Given the description of an element on the screen output the (x, y) to click on. 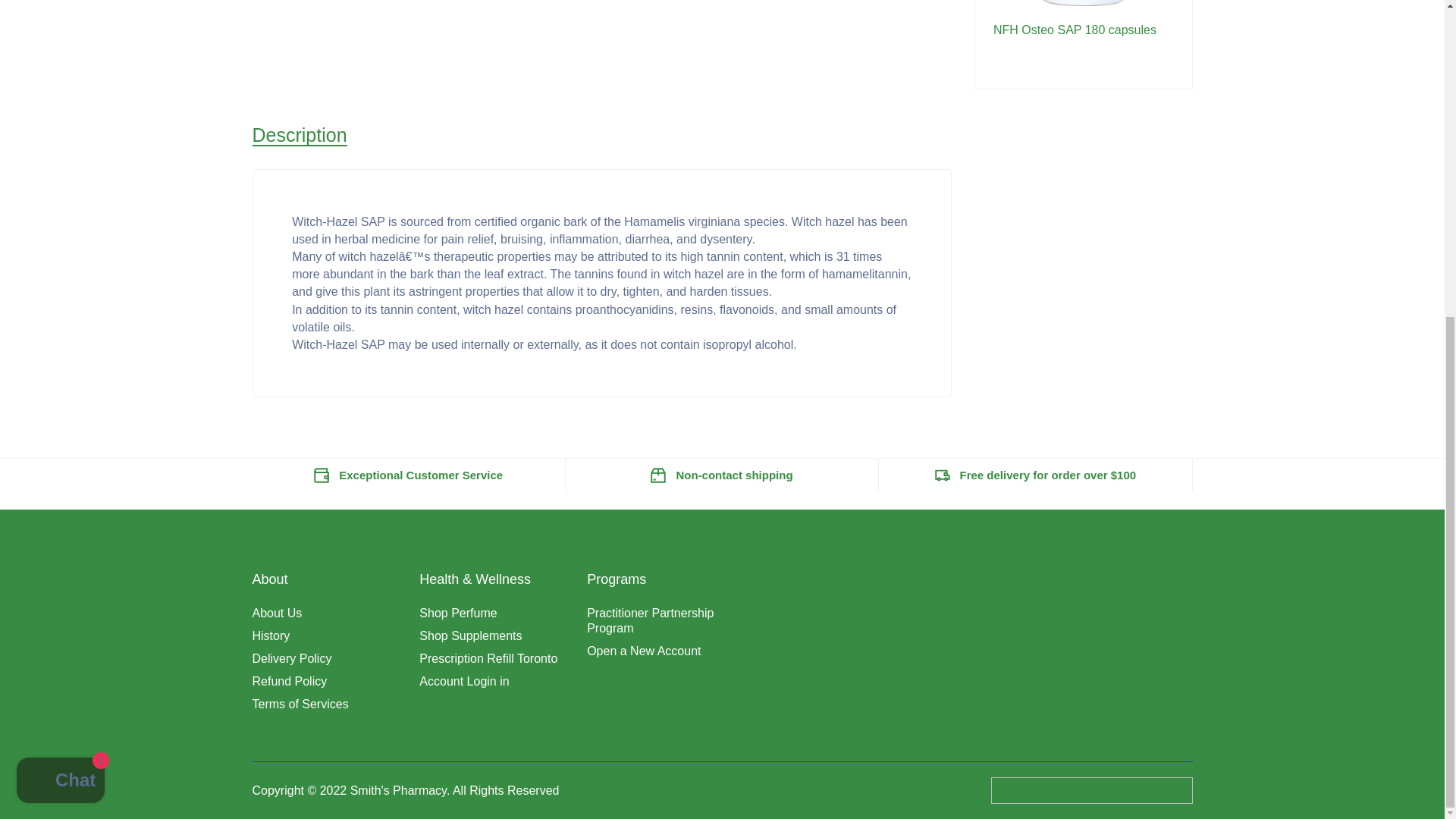
Shopify online store chat (60, 270)
